Given the description of an element on the screen output the (x, y) to click on. 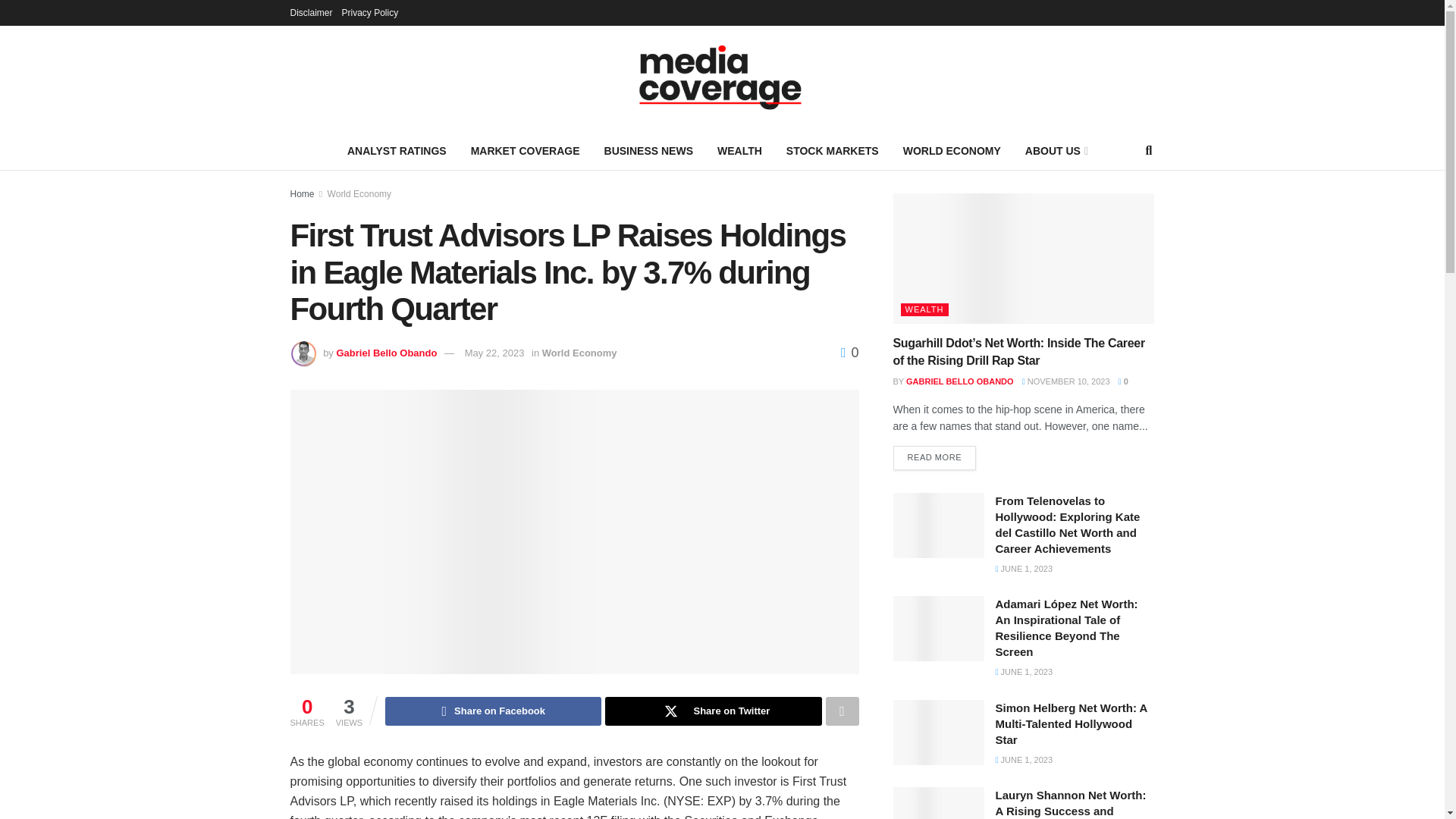
ANALYST RATINGS (396, 150)
ABOUT US (1055, 150)
Share on Facebook (493, 710)
World Economy (579, 352)
MARKET COVERAGE (525, 150)
WEALTH (739, 150)
Privacy Policy (370, 12)
WORLD ECONOMY (952, 150)
May 22, 2023 (494, 352)
World Economy (359, 194)
0 (850, 352)
Gabriel Bello Obando (386, 352)
Disclaimer (310, 12)
STOCK MARKETS (832, 150)
Home (301, 194)
